Given the description of an element on the screen output the (x, y) to click on. 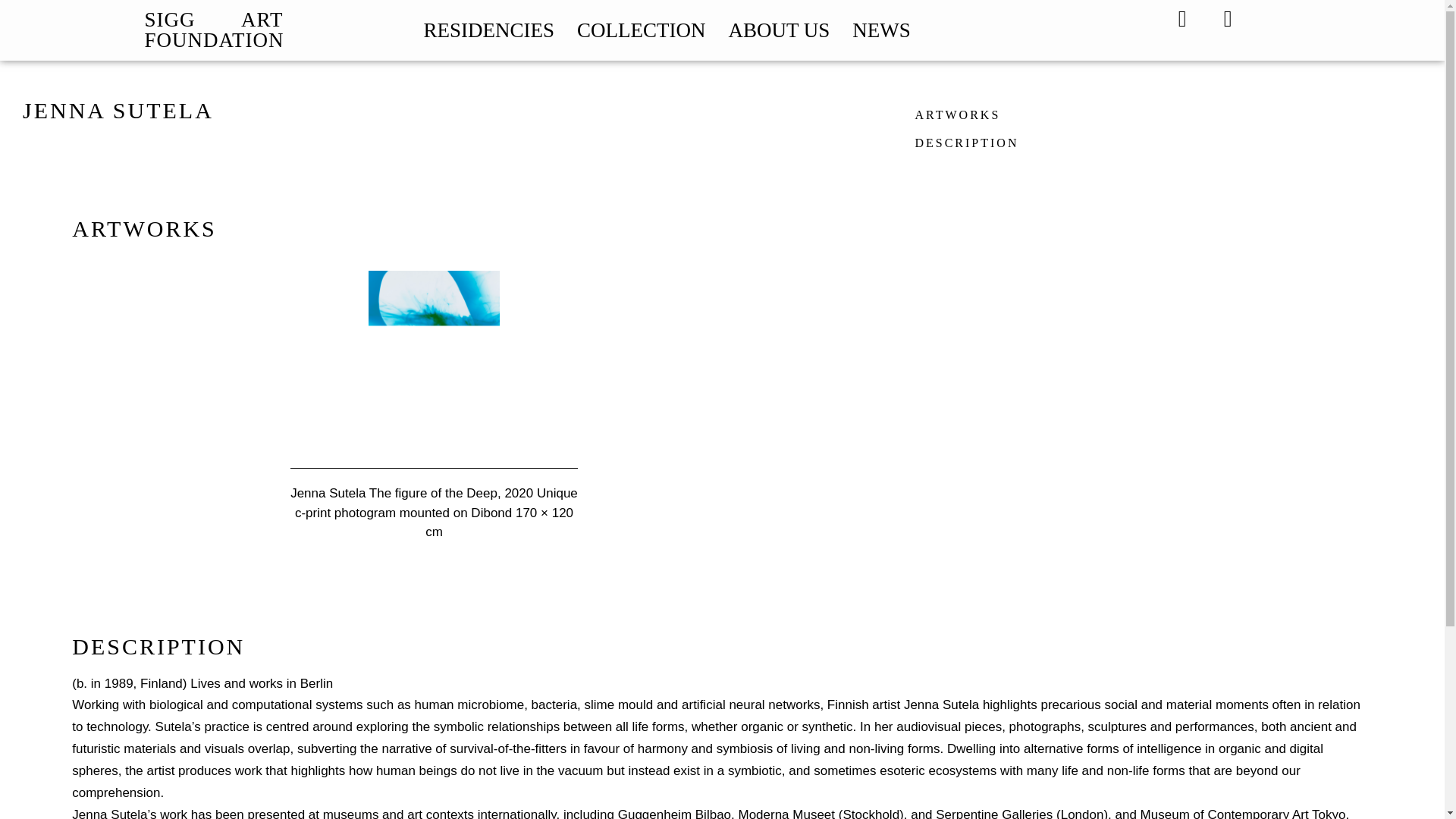
DESCRIPTION (965, 142)
COLLECTION (640, 29)
COLLECTION (61, 142)
ARTWORKS (957, 114)
ABOUT US (778, 29)
NEWS (881, 29)
RESIDENCIES (488, 29)
SIGG ART FOUNDATION (213, 29)
